Given the description of an element on the screen output the (x, y) to click on. 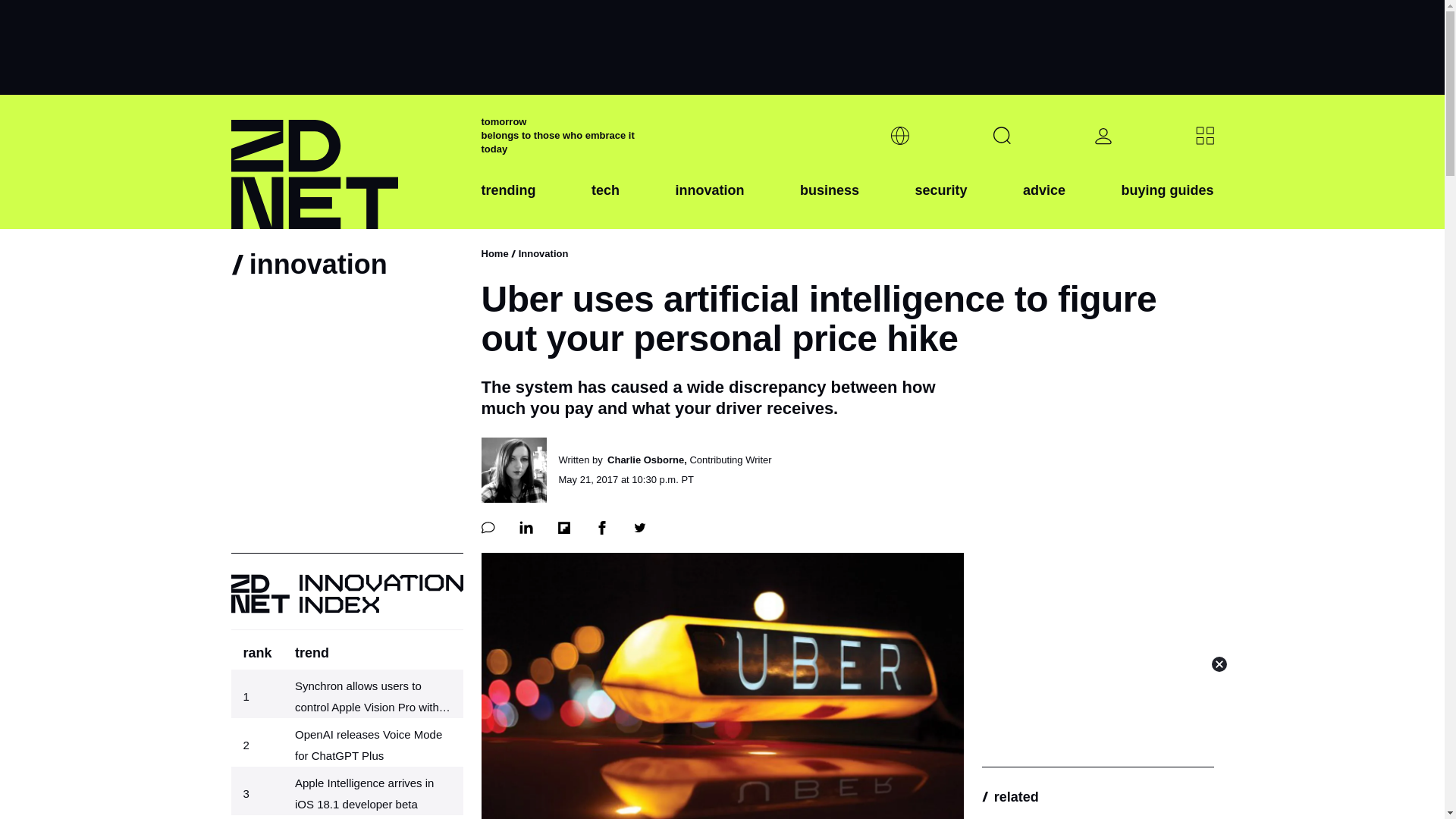
ZDNET (346, 162)
trending (507, 202)
